Given the description of an element on the screen output the (x, y) to click on. 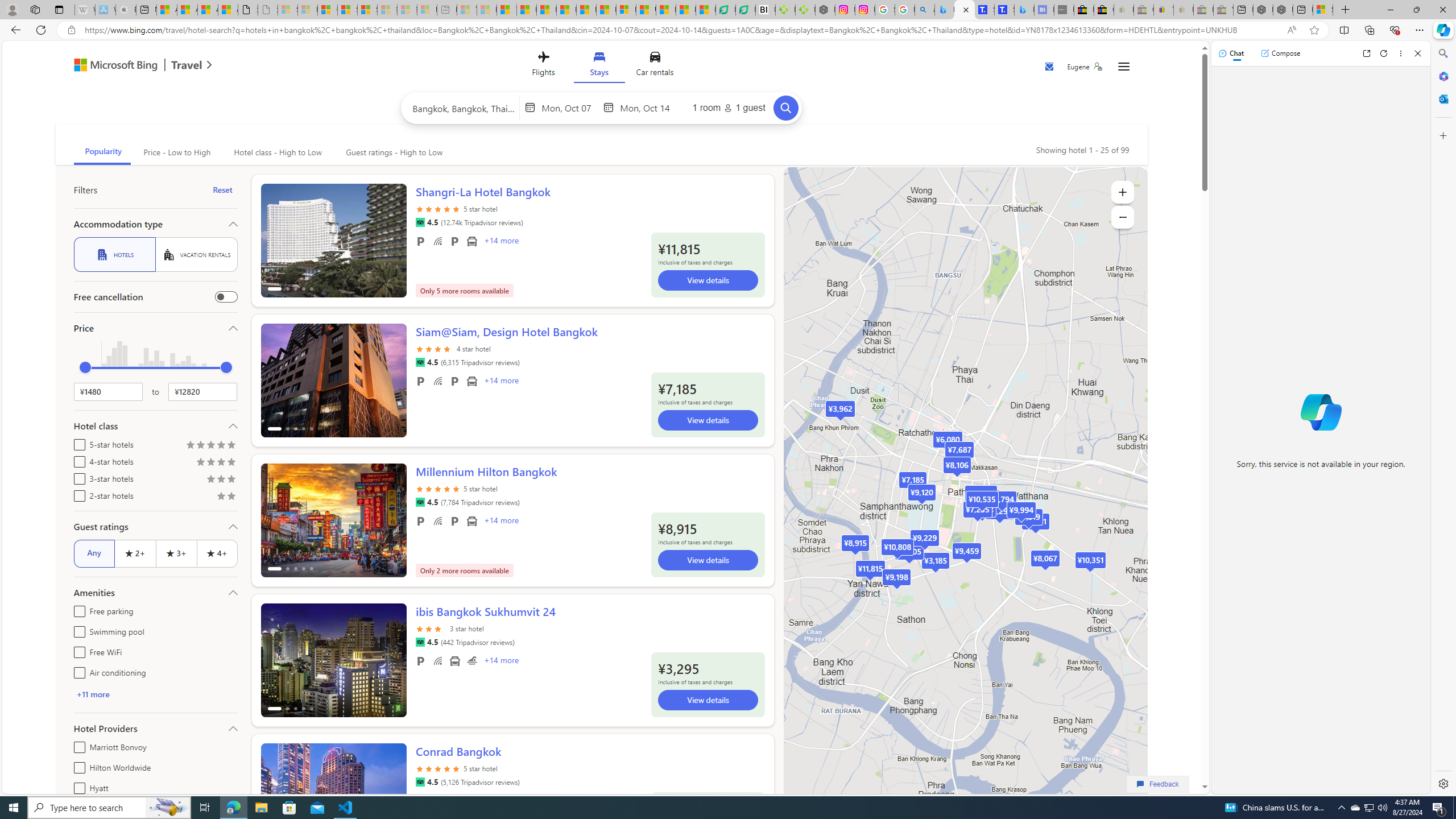
5-star hotels (76, 442)
Swimming pool (76, 629)
3-star hotels (76, 476)
Travel (186, 65)
2+ (135, 553)
Save (1049, 67)
+14 More Amenities (500, 661)
